Given the description of an element on the screen output the (x, y) to click on. 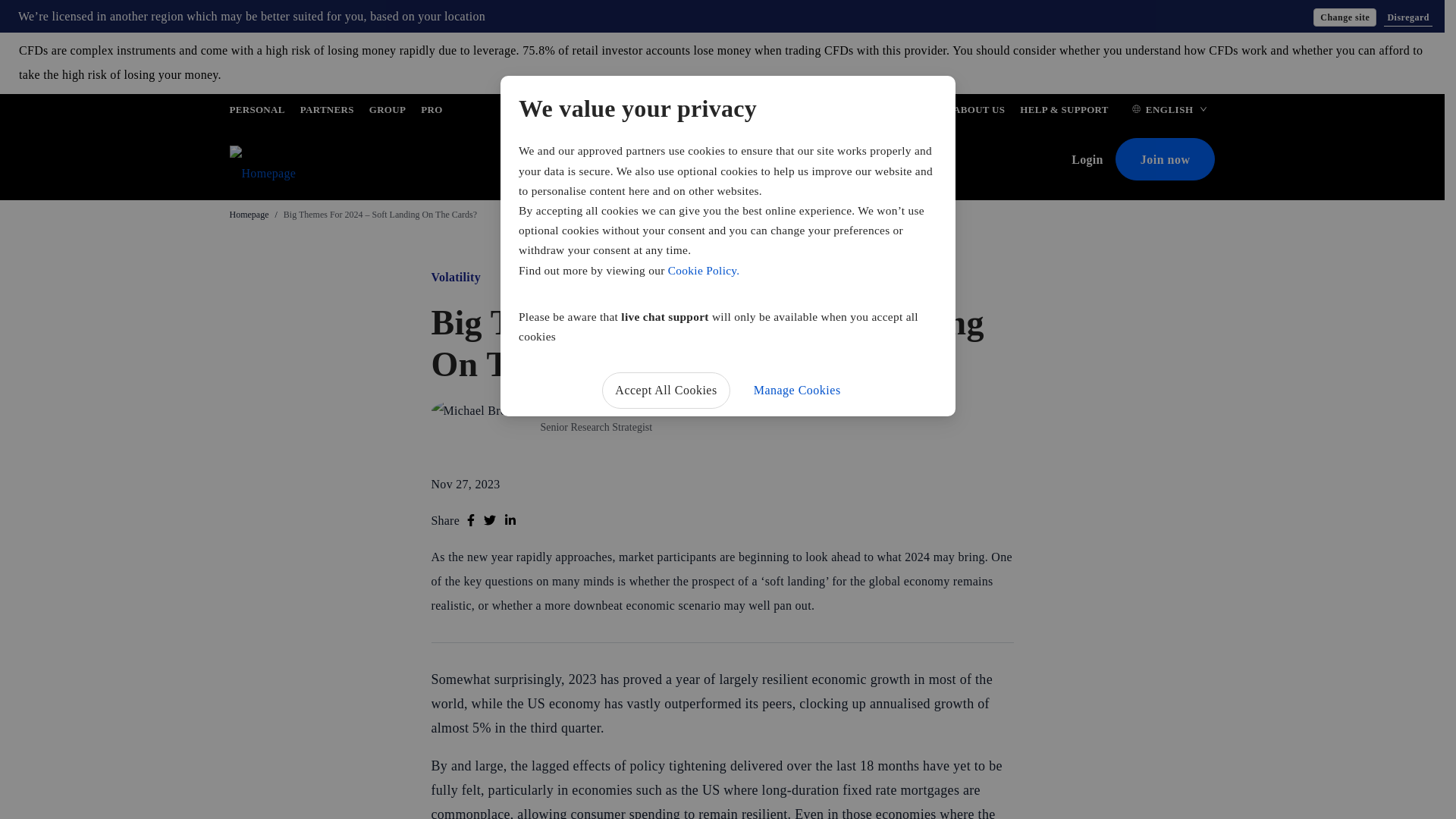
Pricing (566, 160)
Join now (1165, 159)
Platforms (689, 160)
Education (819, 160)
Change site (1344, 17)
PARTNERS (326, 112)
Login (1093, 159)
PERSONAL (255, 112)
Michael Brown (579, 408)
ABOUT US (978, 112)
PRO (431, 112)
Pricing (566, 160)
Login (1093, 159)
Volatility (455, 277)
Markets (624, 160)
